Given the description of an element on the screen output the (x, y) to click on. 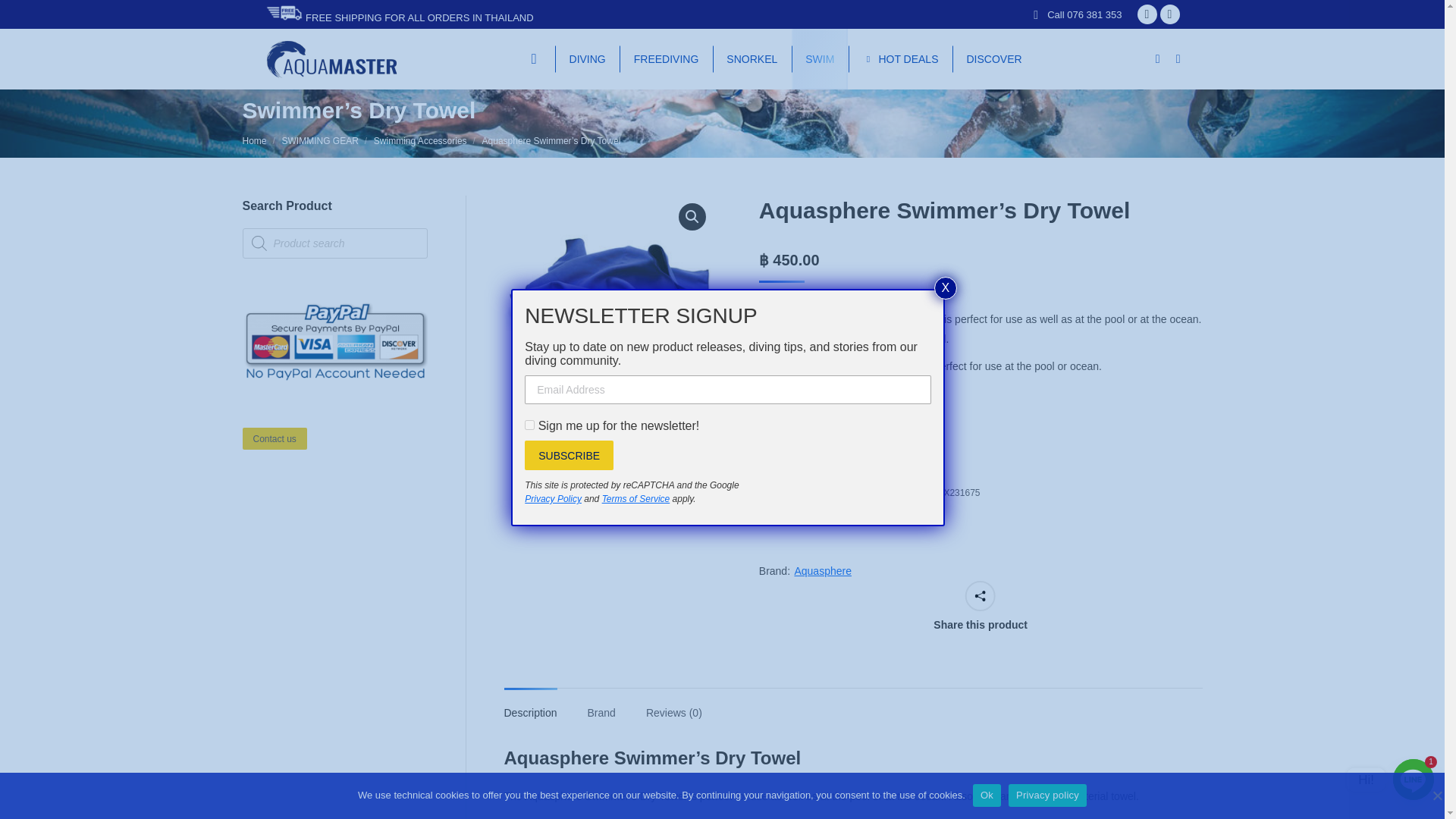
Instagram page opens in new window (1169, 14)
Facebook page opens in new window (1147, 14)
SUBSCRIBE (568, 455)
1 (789, 442)
Call 076 381 353 (1083, 14)
Home (254, 140)
Facebook page opens in new window (1147, 14)
View brand (822, 570)
Swimming Accessories (420, 140)
1 (529, 424)
SWIMMING GEAR (320, 140)
Instagram page opens in new window (1169, 14)
DIVING (588, 58)
